Given the description of an element on the screen output the (x, y) to click on. 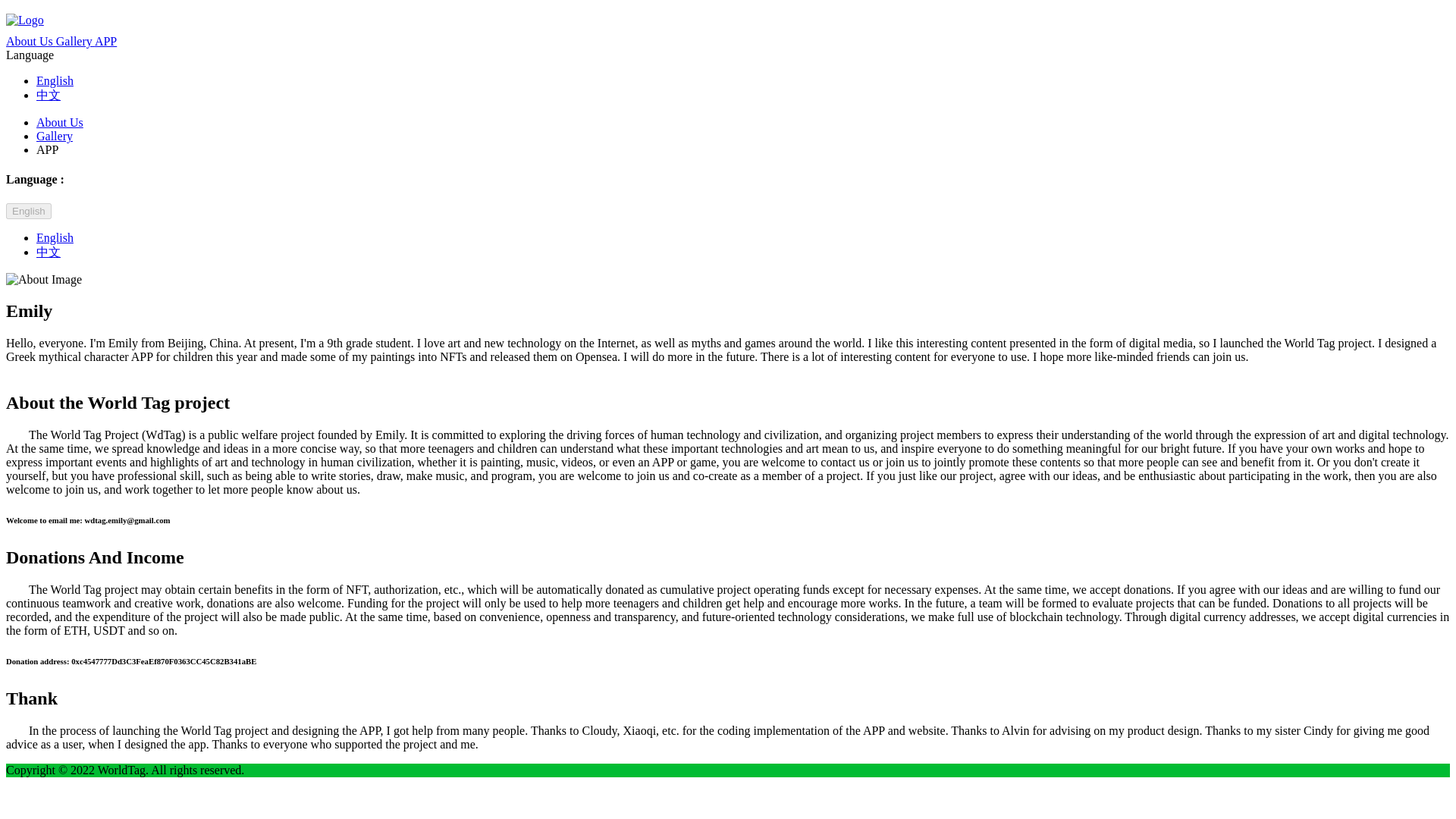
APP (47, 149)
About Us (59, 122)
About Us (30, 41)
APP (105, 41)
Gallery (54, 135)
English (55, 237)
Language (29, 54)
Gallery (75, 41)
English (27, 211)
English (55, 80)
